Given the description of an element on the screen output the (x, y) to click on. 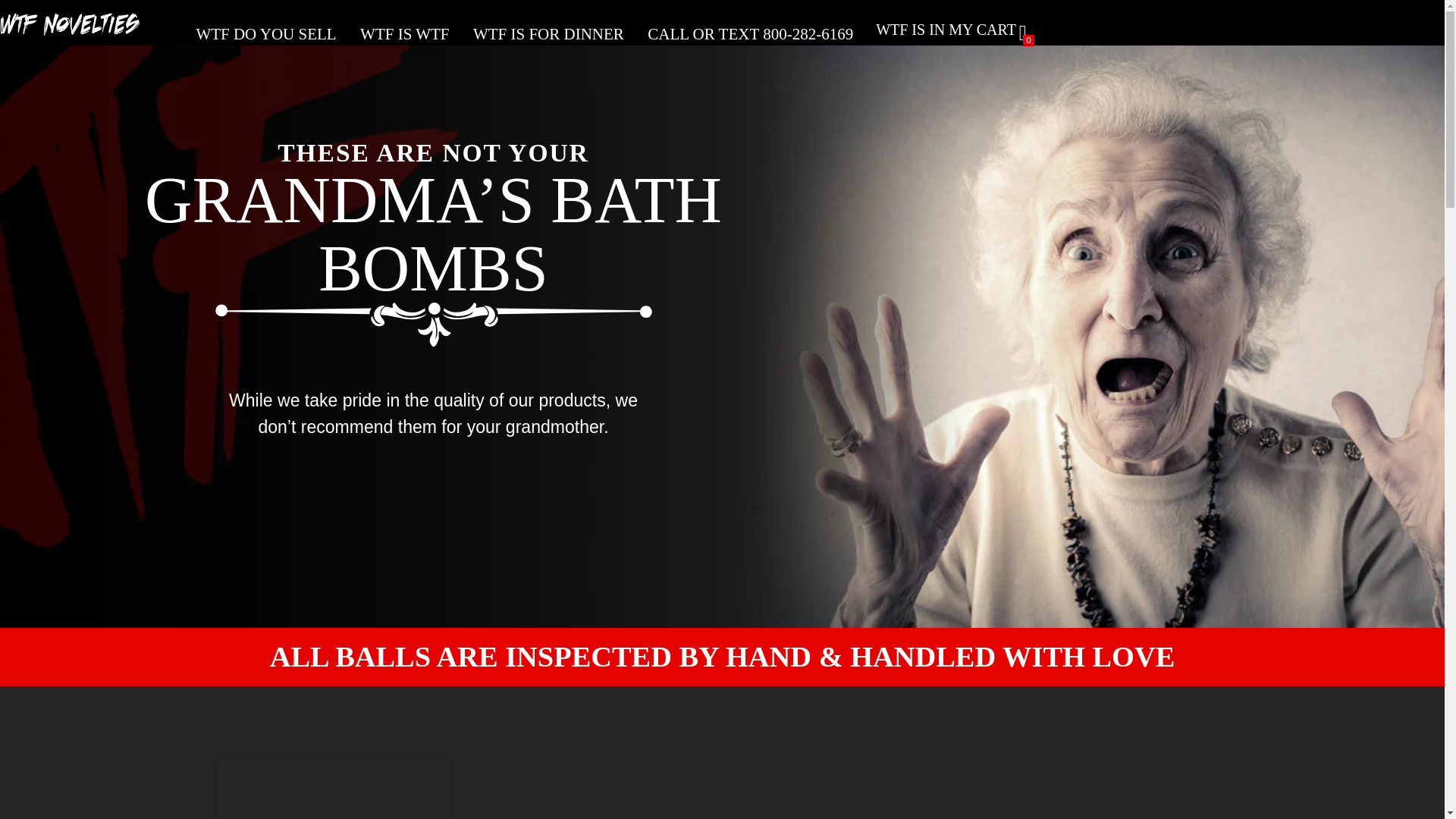
WTF Novelties (76, 29)
